Given the description of an element on the screen output the (x, y) to click on. 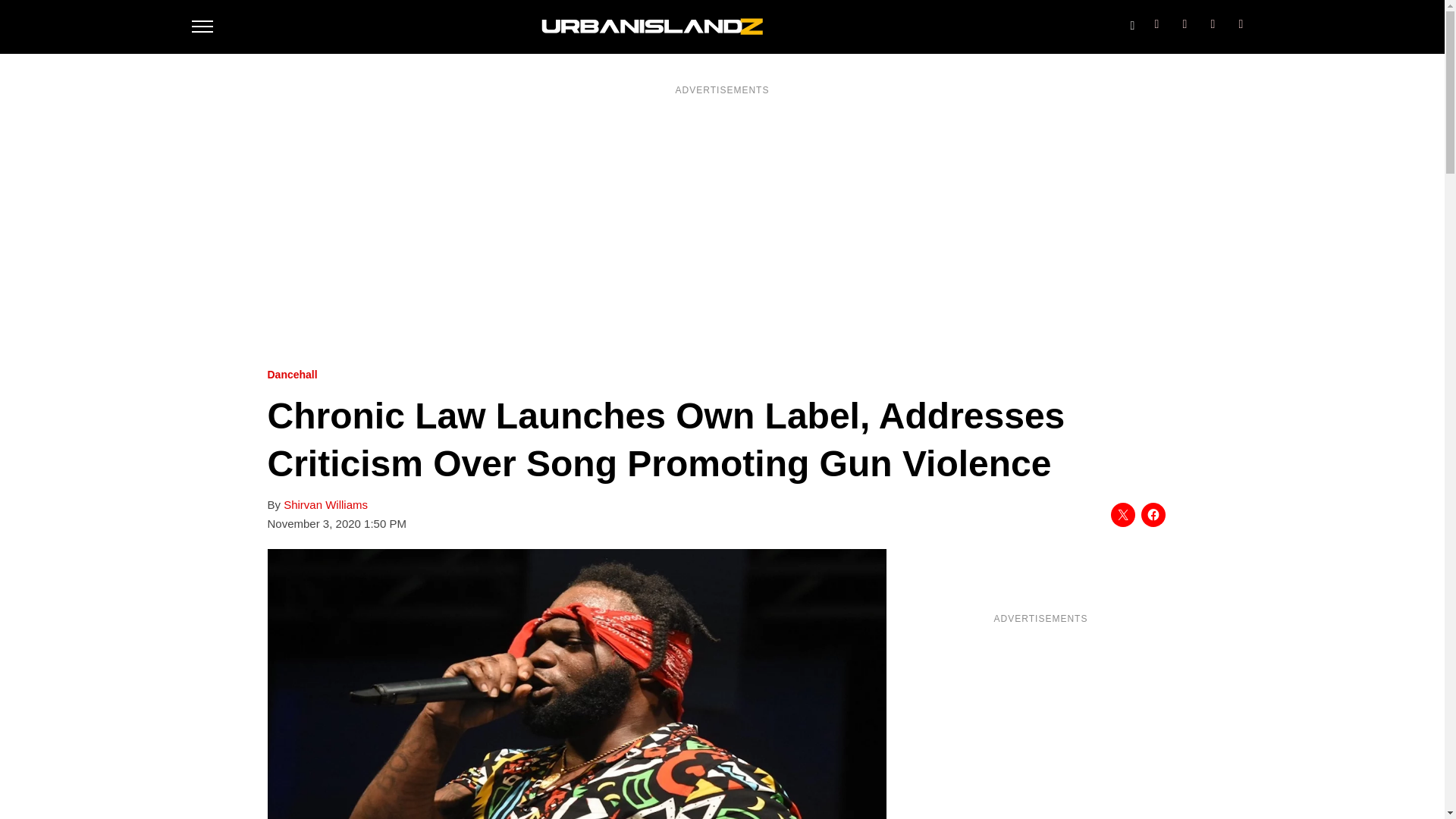
Dancehall (291, 375)
Posts by Shirvan Williams (325, 504)
Click to share on X (1121, 514)
Click to share on Facebook (1152, 514)
Shirvan Williams (325, 504)
Search (1131, 22)
